Given the description of an element on the screen output the (x, y) to click on. 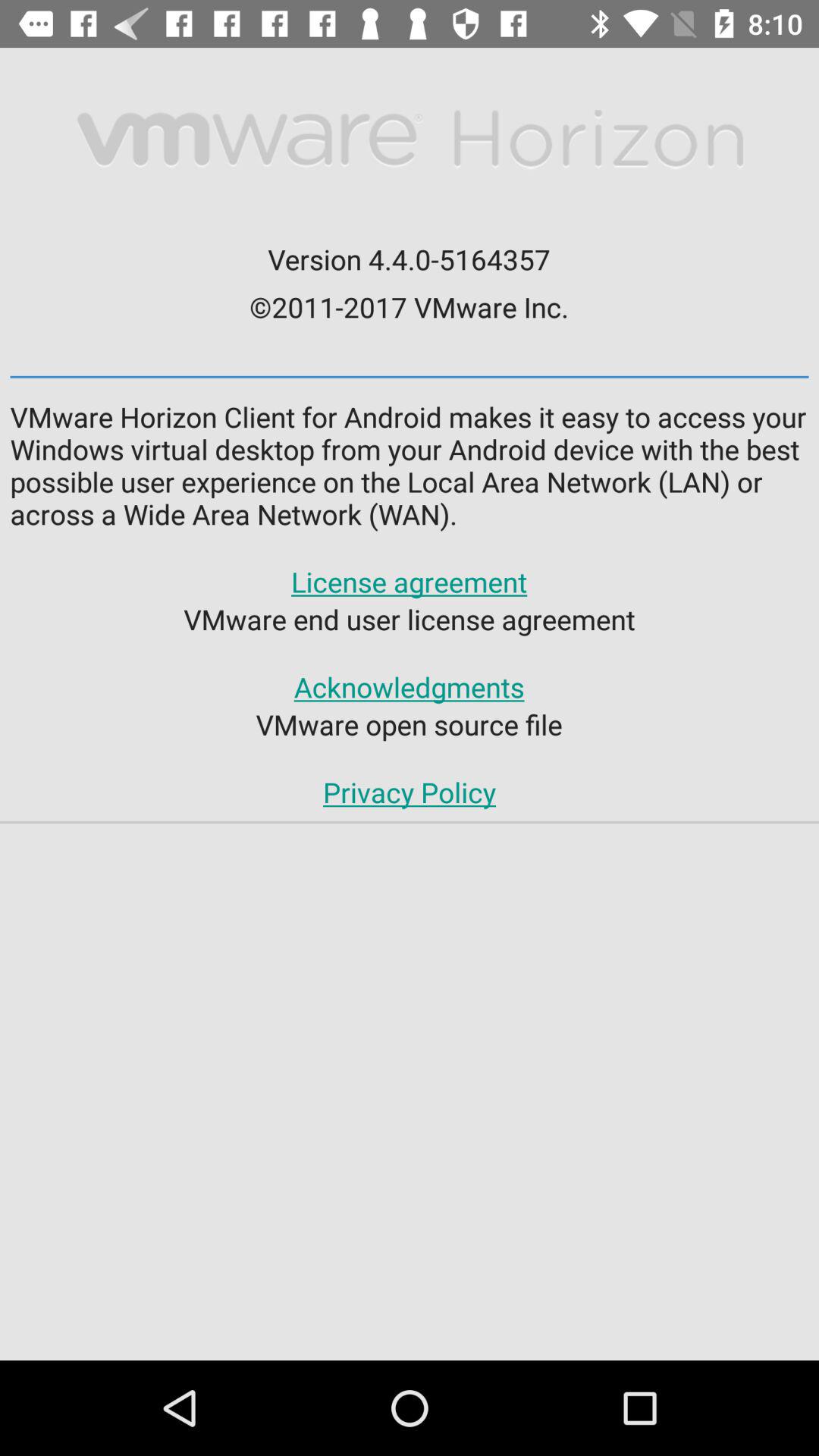
select the 2011 2017 vmware icon (408, 306)
